Given the description of an element on the screen output the (x, y) to click on. 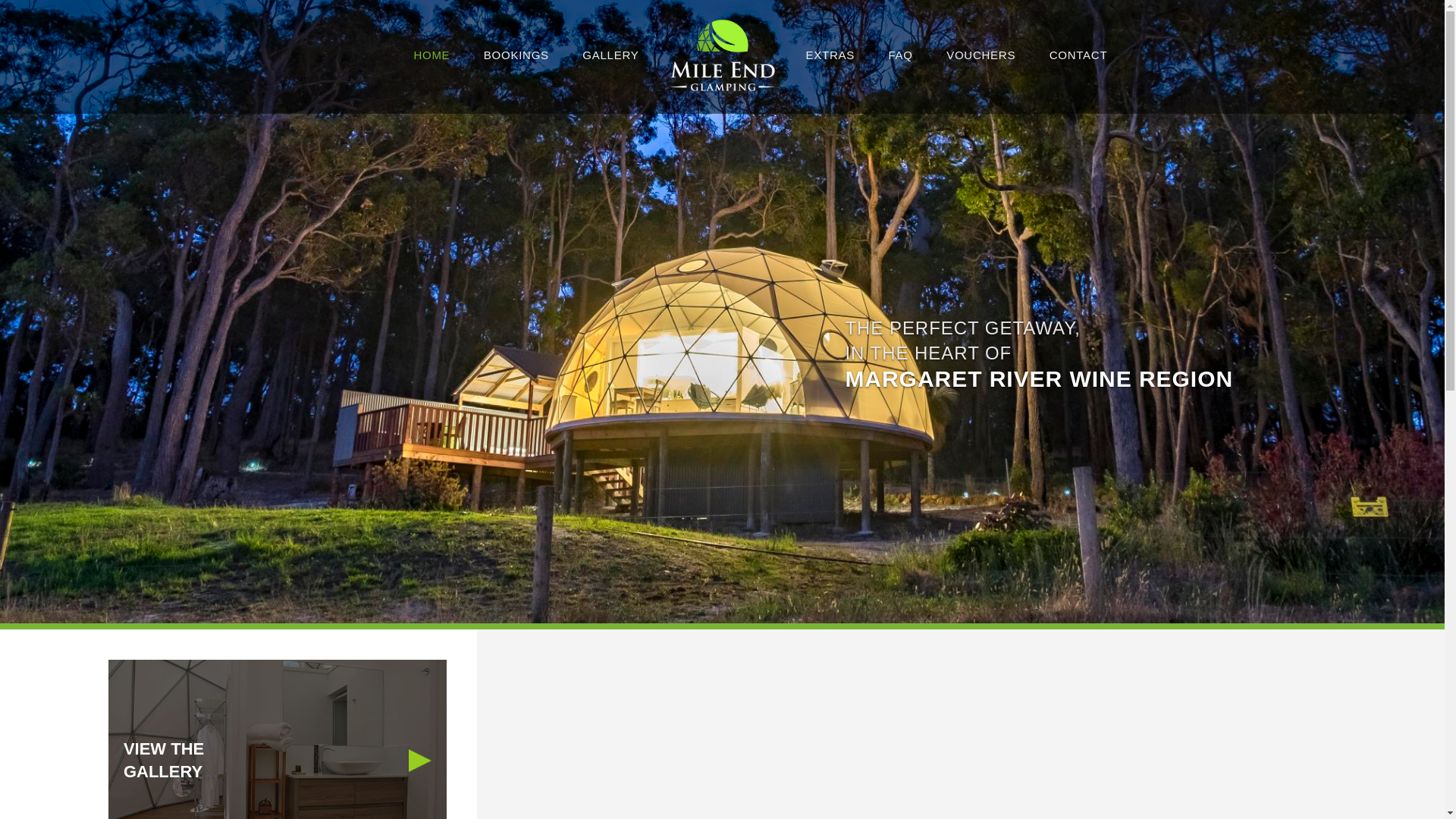
VOUCHERS Element type: text (980, 54)
HOME Element type: text (431, 54)
FAQ Element type: text (900, 54)
EXTRAS Element type: text (829, 54)
BOOKINGS Element type: text (516, 54)
CONTACT Element type: text (1078, 54)
GALLERY Element type: text (610, 54)
